Given the description of an element on the screen output the (x, y) to click on. 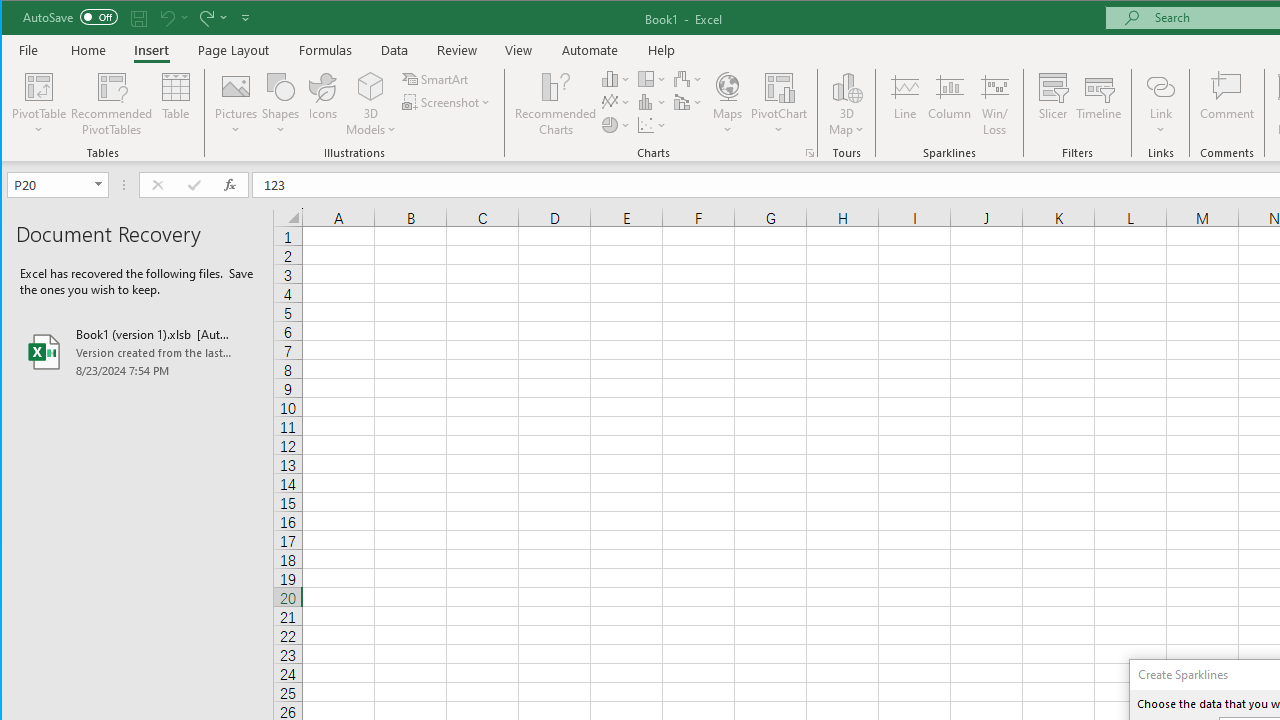
Recommended PivotTables (111, 104)
Insert Scatter (X, Y) or Bubble Chart (652, 124)
Icons (323, 104)
Insert Hierarchy Chart (652, 78)
Column (949, 104)
3D Models (371, 104)
PivotChart (779, 104)
Win/Loss (995, 104)
